Given the description of an element on the screen output the (x, y) to click on. 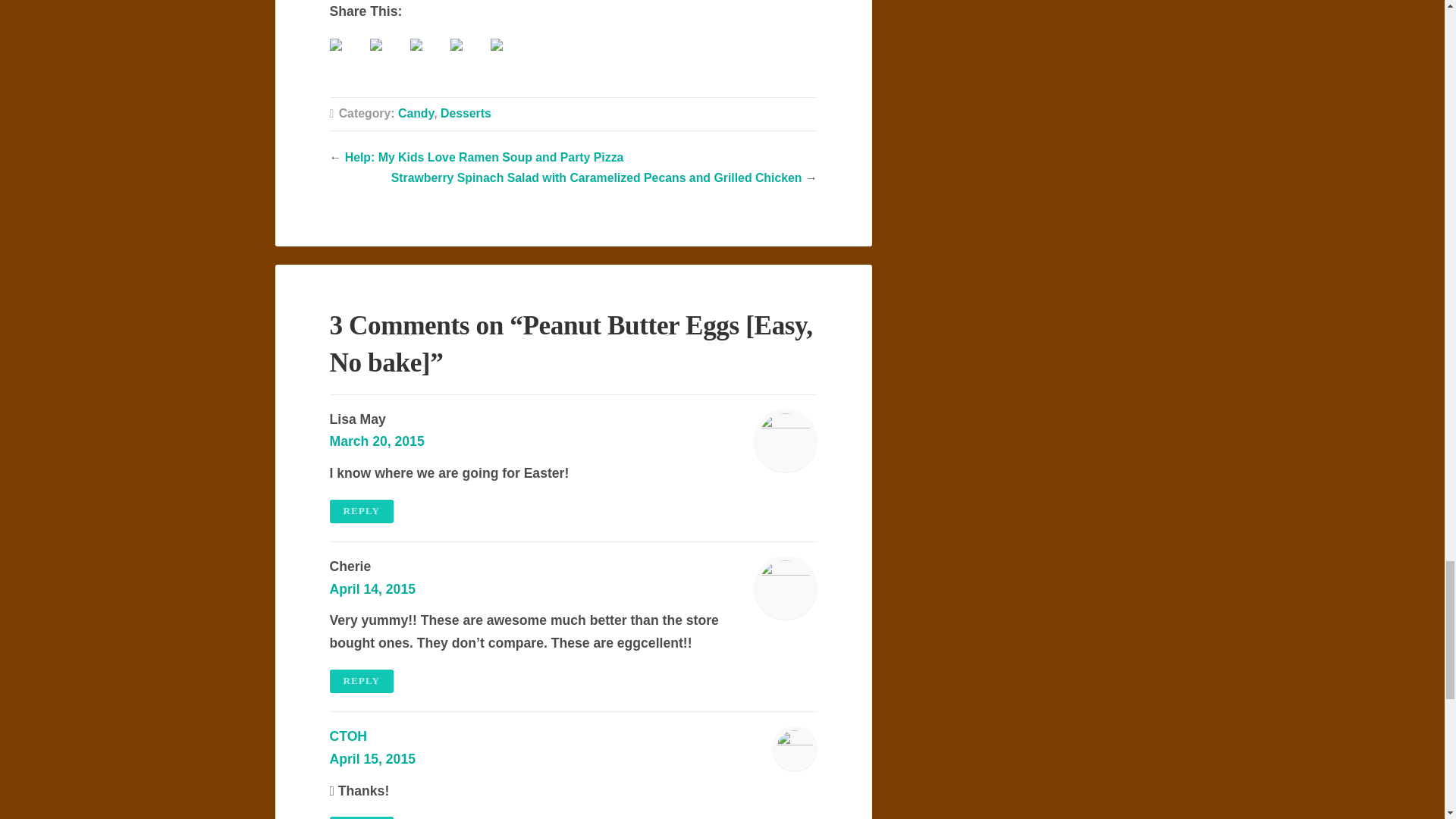
REPLY (361, 510)
REPLY (361, 680)
Share by email (507, 56)
CTOH (347, 735)
Help: My Kids Love Ramen Soup and Party Pizza (484, 156)
Share by email (495, 44)
Candy (415, 113)
Share on Twitter (387, 56)
April 15, 2015 (371, 758)
Share on Linkedin (467, 56)
